Given the description of an element on the screen output the (x, y) to click on. 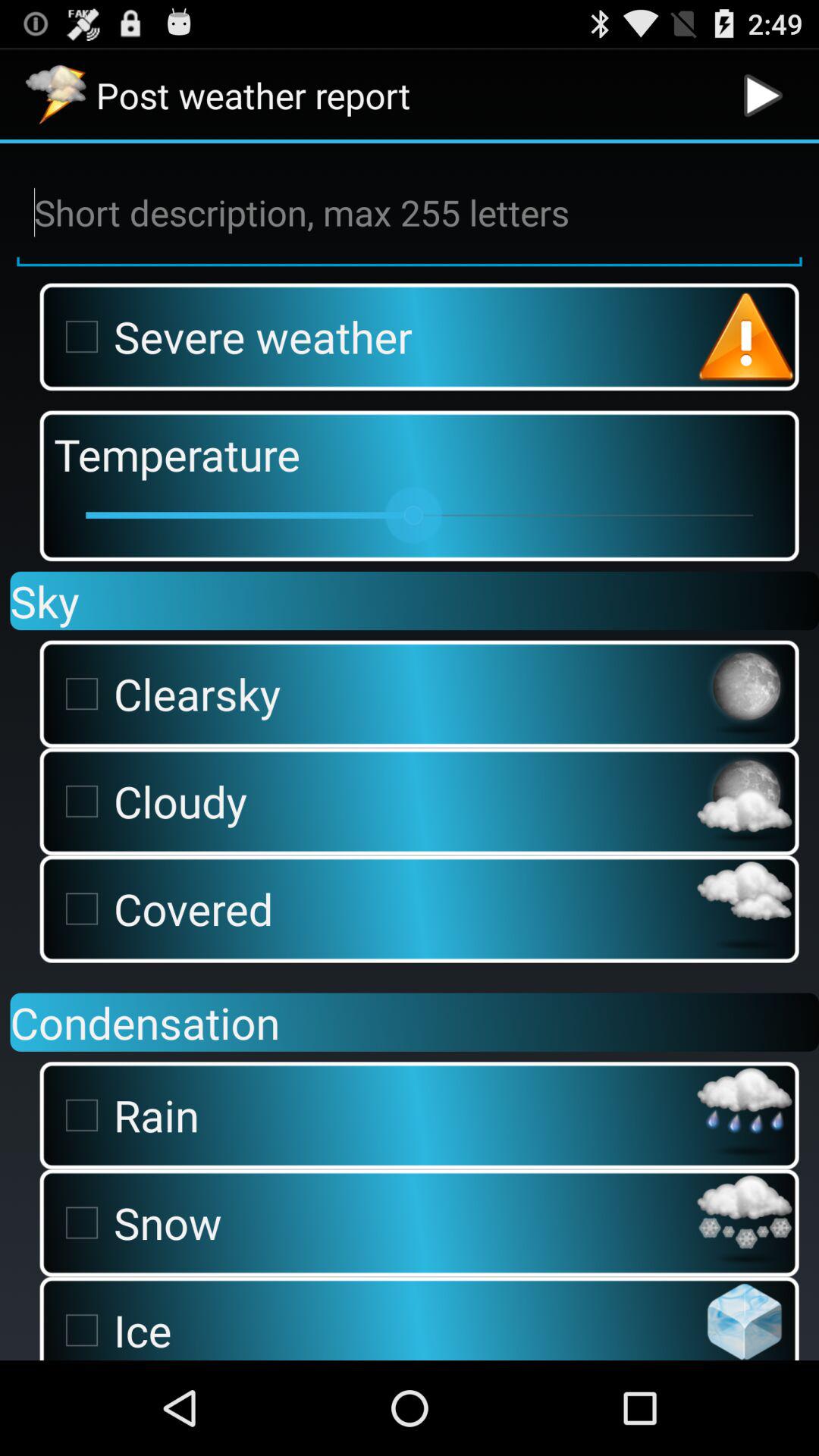
choose the item to the right of the post weather report icon (763, 95)
